Given the description of an element on the screen output the (x, y) to click on. 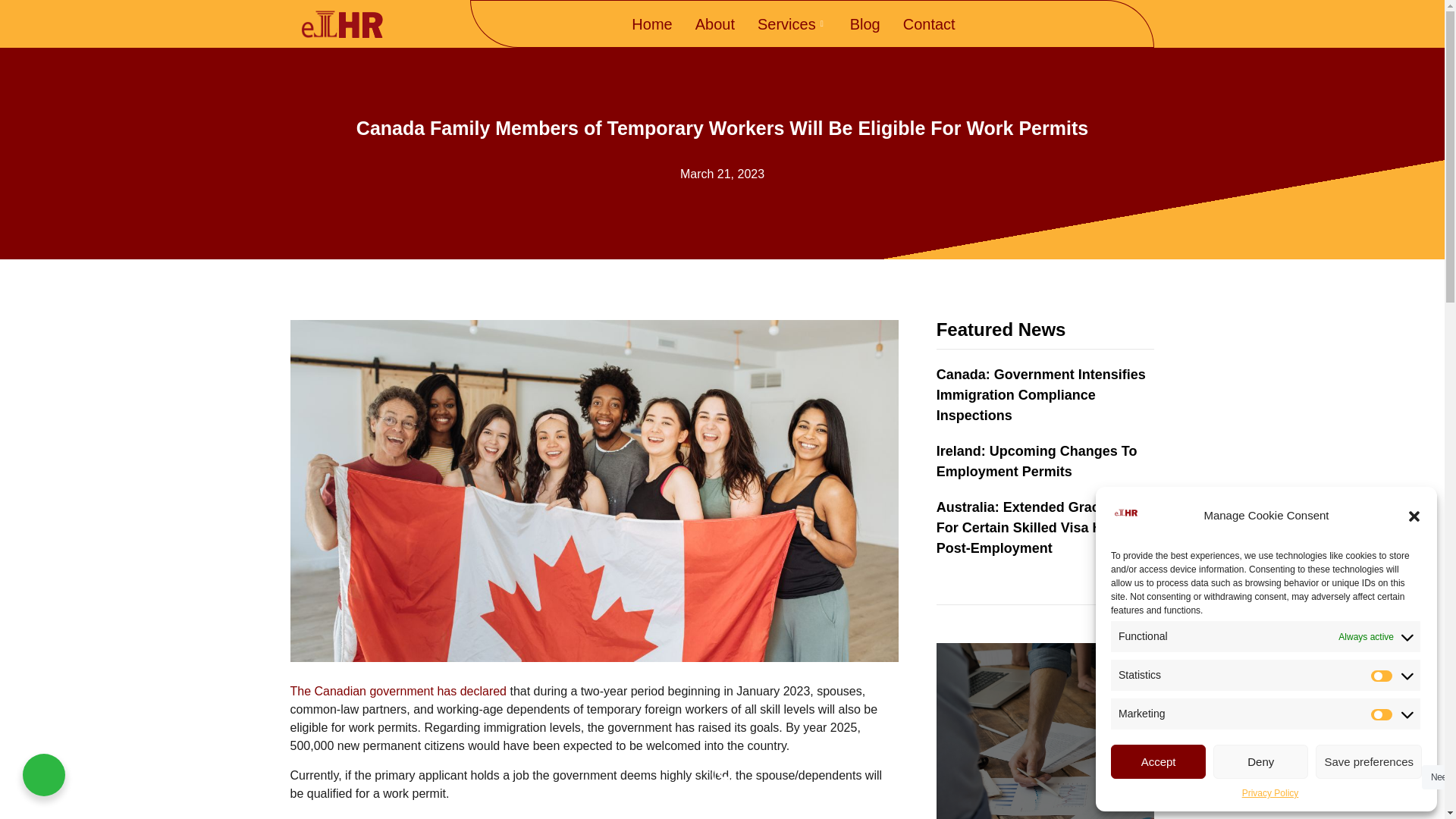
The Canadian government has declared (397, 690)
Accept (1157, 761)
Privacy Policy (1269, 793)
Deny (1259, 761)
Services (791, 24)
About (714, 24)
Save preferences (1369, 761)
Contact (928, 24)
Ireland: Upcoming Changes To Employment Permits (1045, 461)
Blog (864, 24)
Home (651, 24)
